Given the description of an element on the screen output the (x, y) to click on. 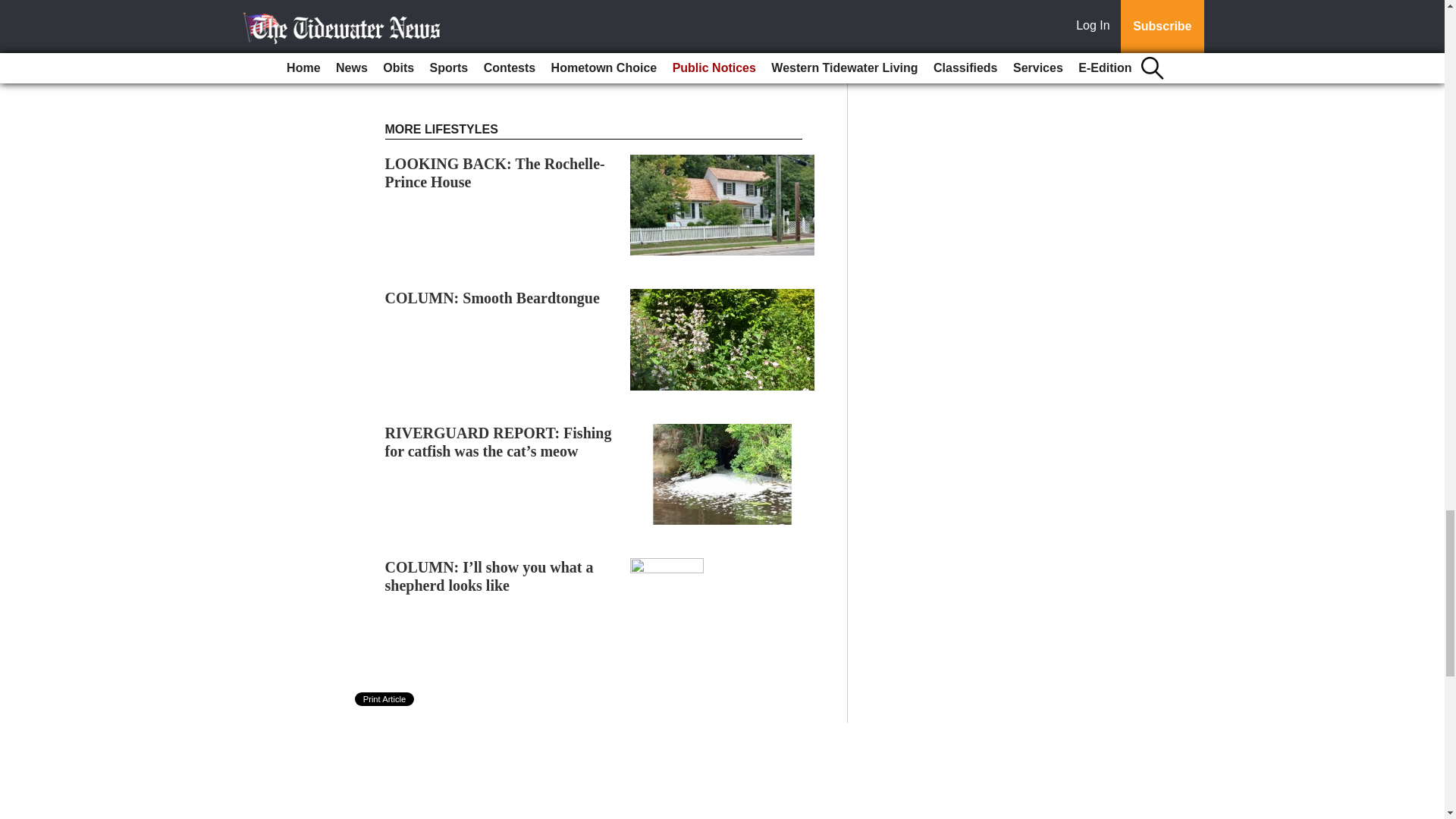
COLUMN: Smooth Beardtongue (492, 297)
COLUMN: Smooth Beardtongue (492, 297)
LOOKING BACK: The Rochelle-Prince House (495, 172)
LOOKING BACK: The Rochelle-Prince House (495, 172)
